Given the description of an element on the screen output the (x, y) to click on. 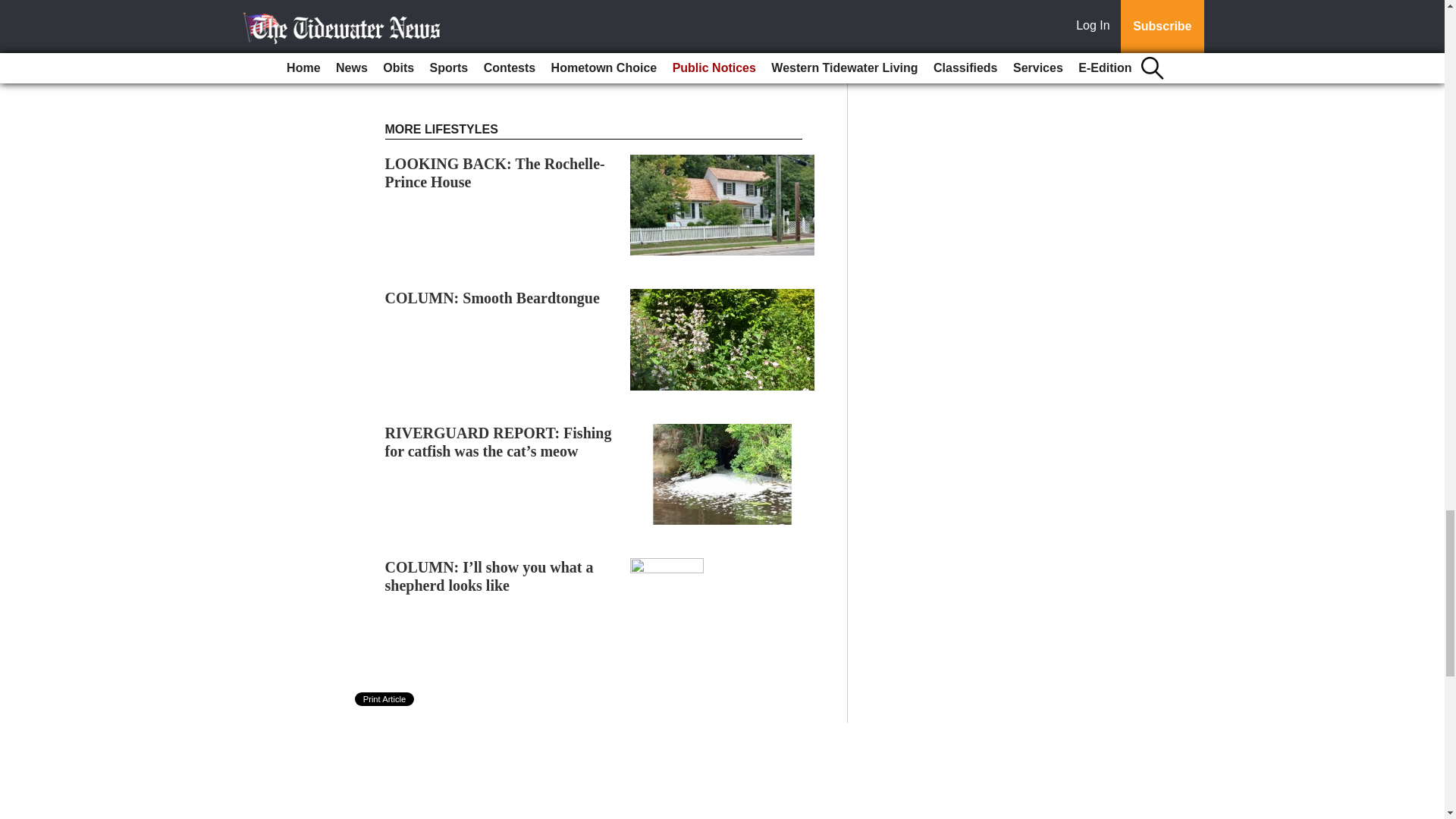
COLUMN: Smooth Beardtongue (492, 297)
COLUMN: Smooth Beardtongue (492, 297)
LOOKING BACK: The Rochelle-Prince House (495, 172)
LOOKING BACK: The Rochelle-Prince House (495, 172)
